Given the description of an element on the screen output the (x, y) to click on. 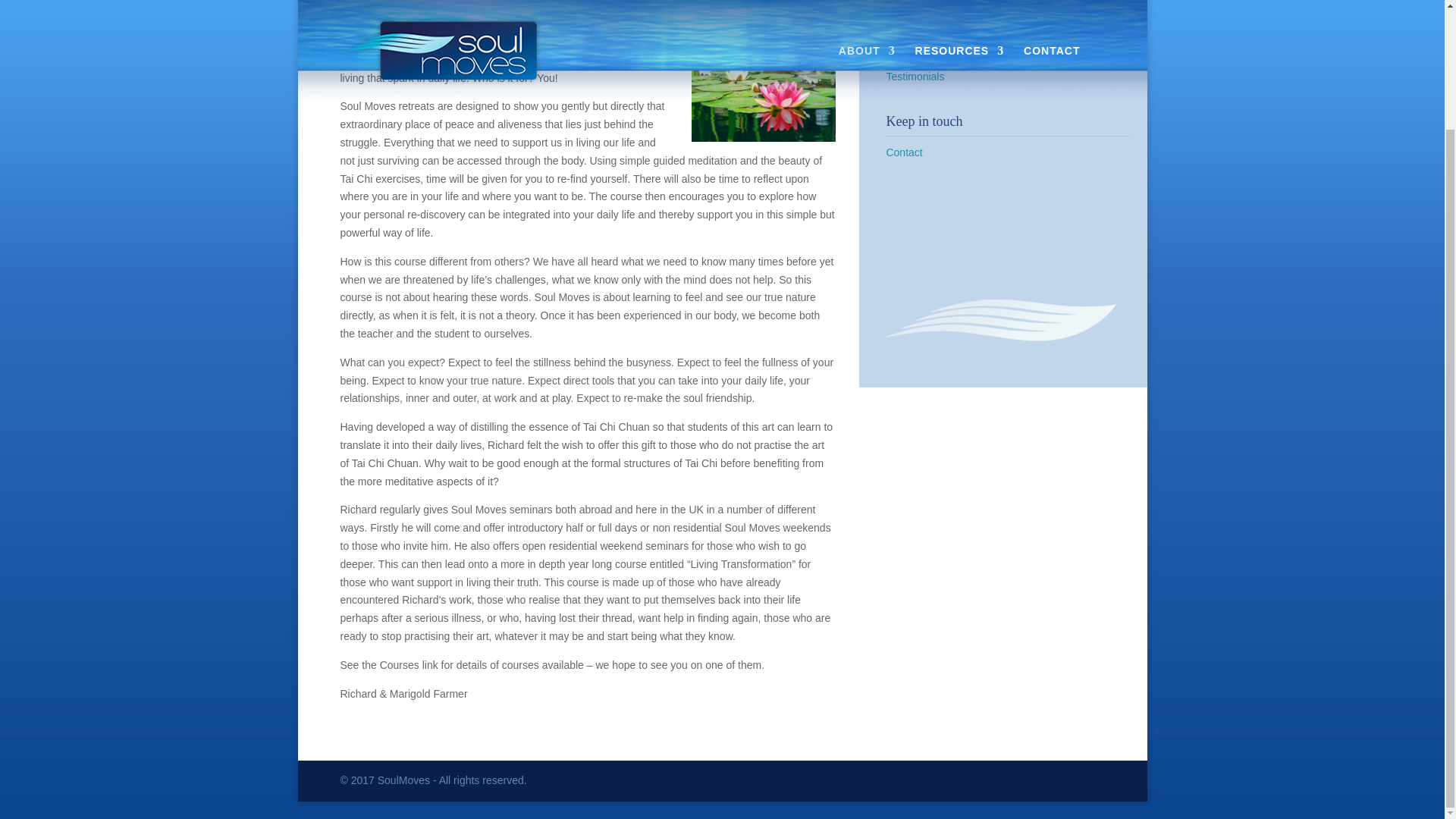
What is Soul Moves? (935, 6)
Contact (903, 152)
Testimonials (914, 76)
About Richard Farmer (937, 30)
